Given the description of an element on the screen output the (x, y) to click on. 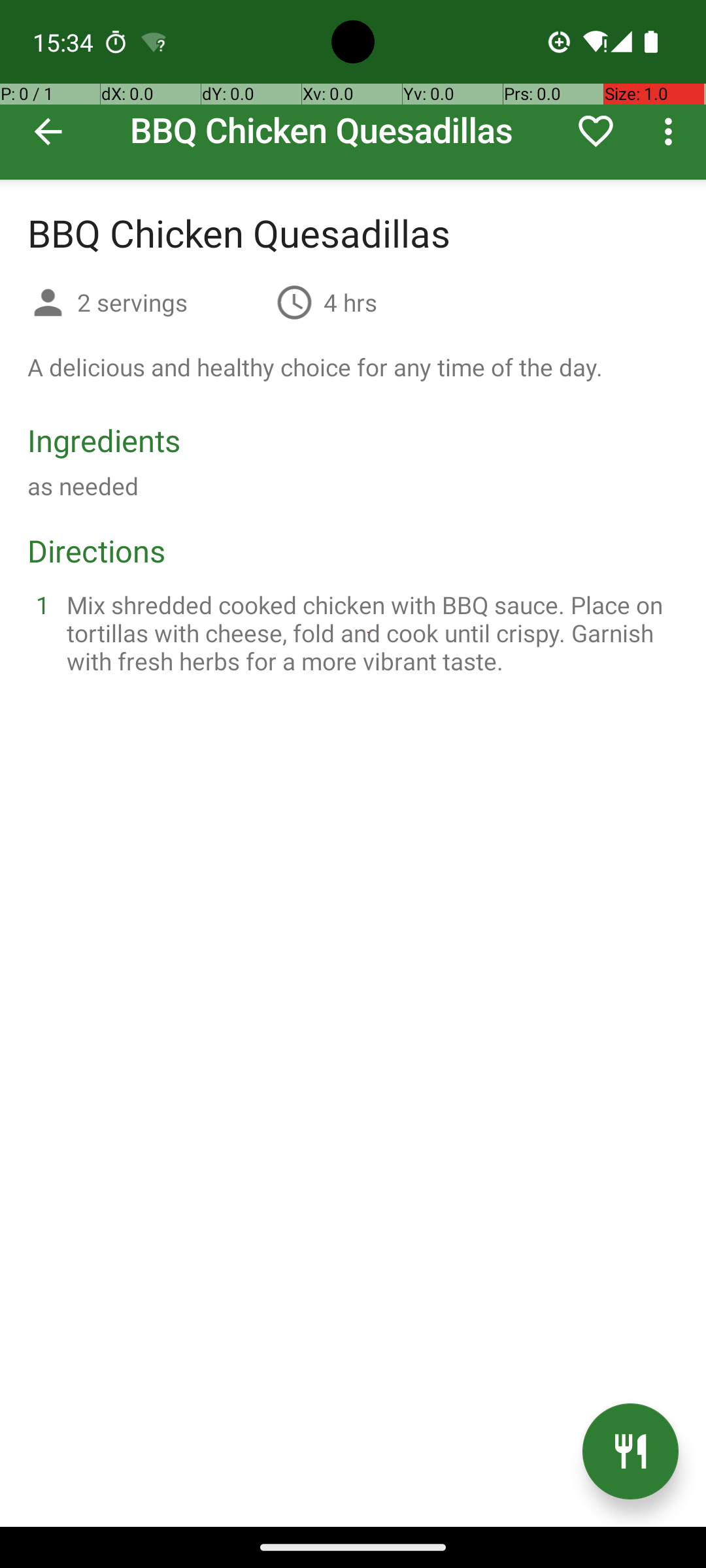
Mix shredded cooked chicken with BBQ sauce. Place on tortillas with cheese, fold and cook until crispy. Garnish with fresh herbs for a more vibrant taste. Element type: android.widget.TextView (368, 632)
